Given the description of an element on the screen output the (x, y) to click on. 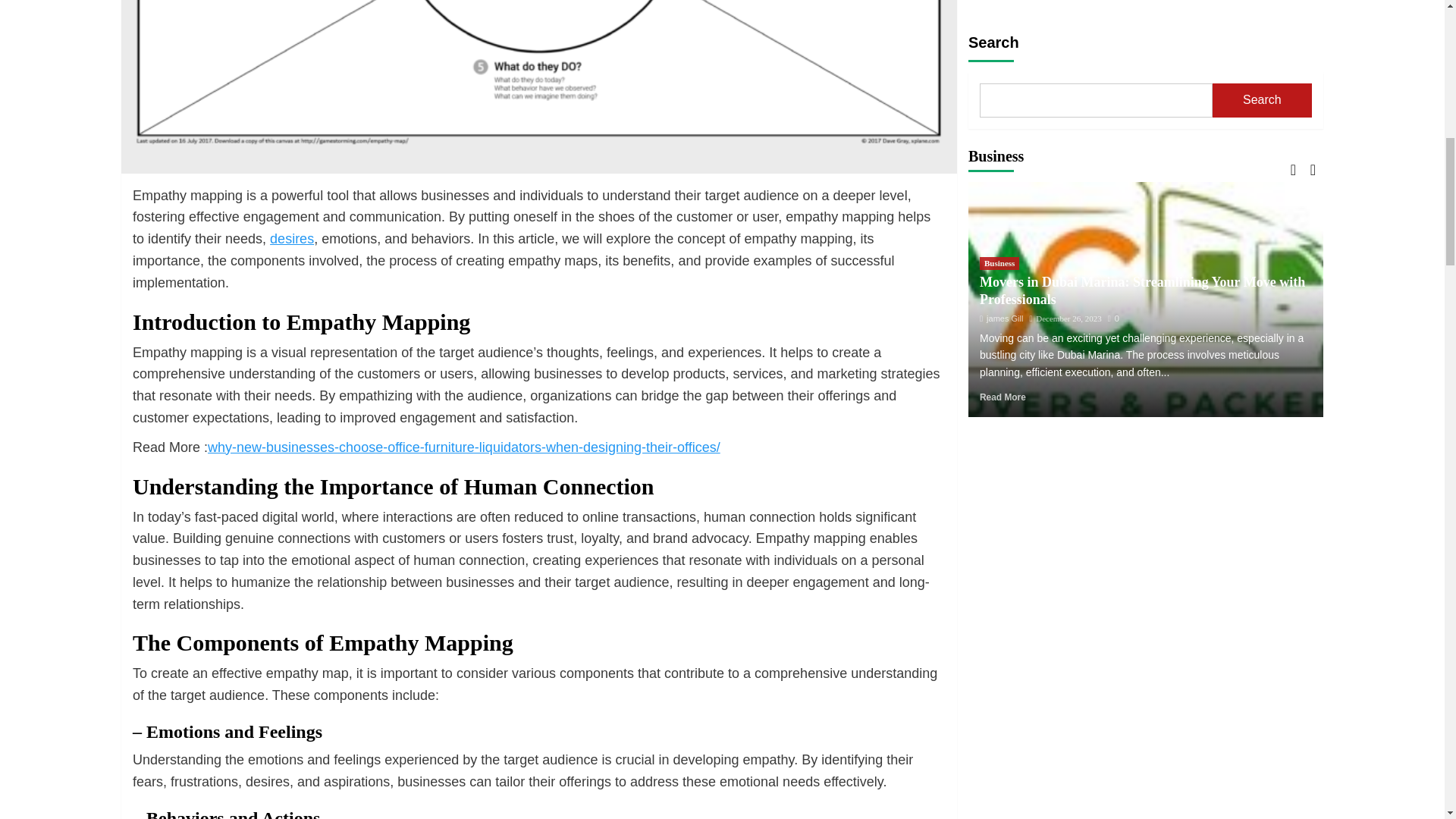
desires (291, 238)
